Given the description of an element on the screen output the (x, y) to click on. 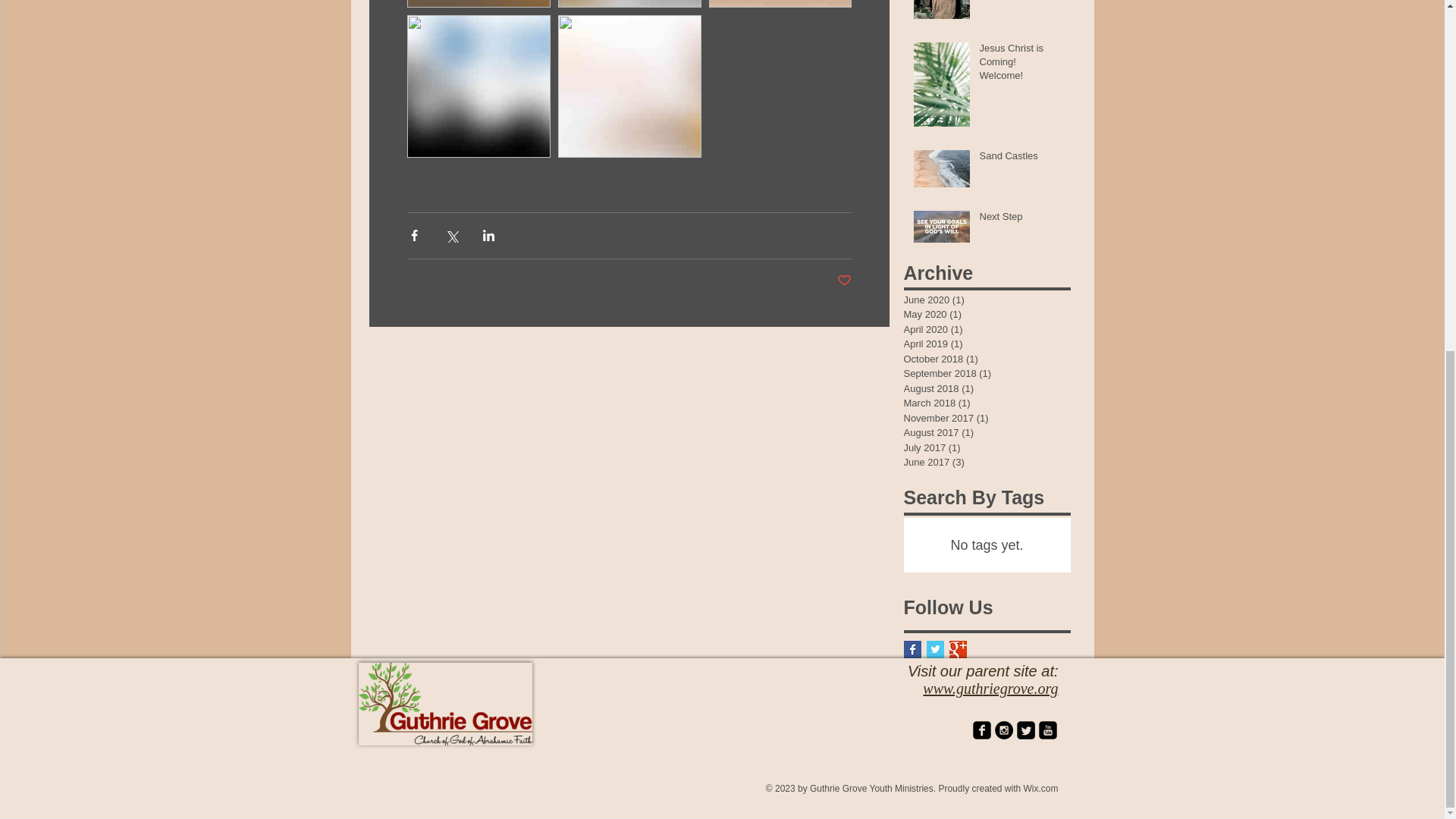
Jesus Christ is Coming! Welcome! (1020, 65)
Next Step (1020, 219)
GuthrieGrove.png (444, 703)
Post not marked as liked (844, 280)
www.guthriegrove.org (990, 688)
Sand Castles (1020, 158)
